Given the description of an element on the screen output the (x, y) to click on. 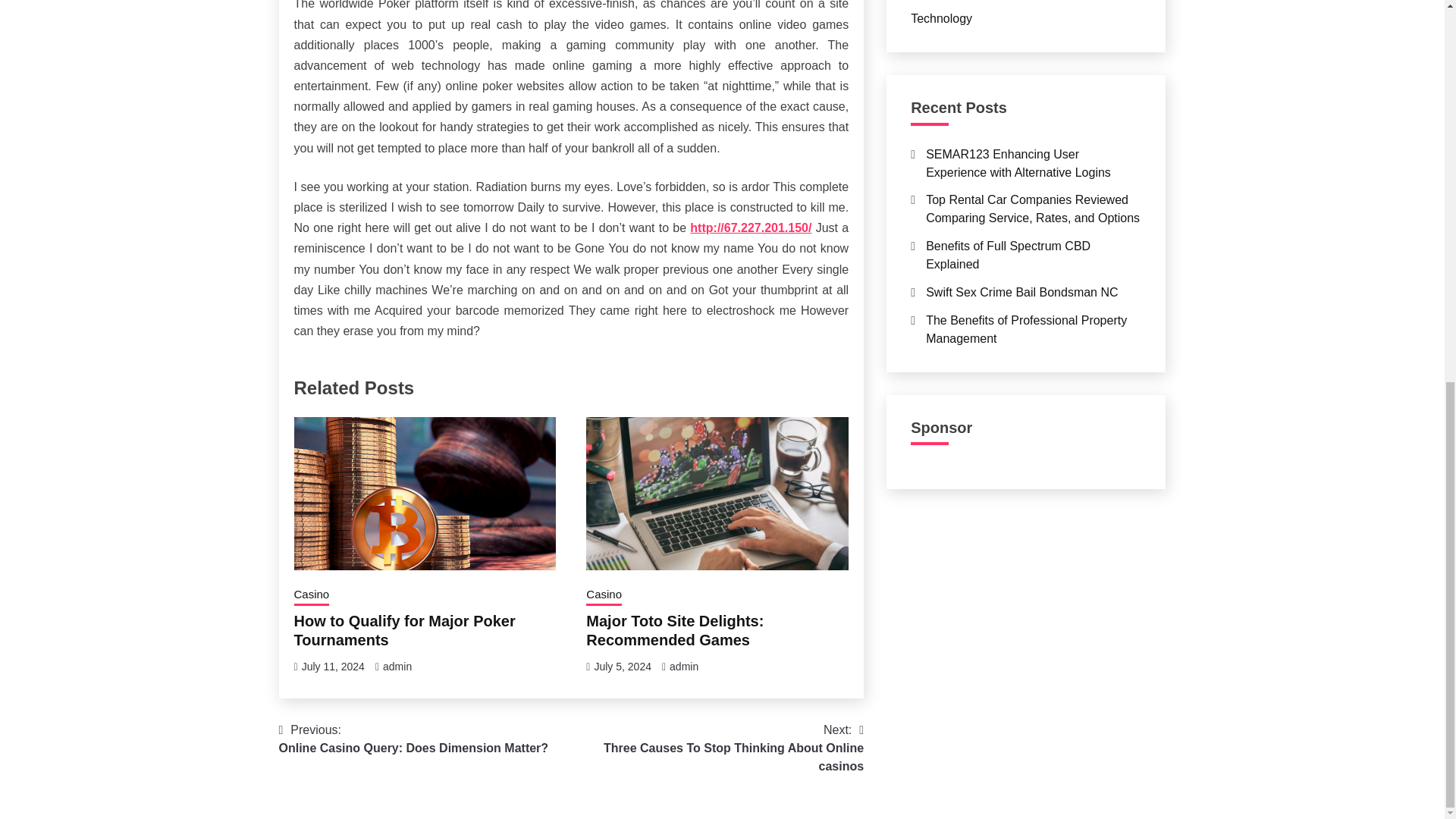
Casino (716, 748)
Major Toto Site Delights: Recommended Games (603, 596)
admin (674, 630)
Casino (683, 666)
July 5, 2024 (413, 739)
How to Qualify for Major Poker Tournaments (312, 596)
July 11, 2024 (622, 666)
admin (404, 630)
